Given the description of an element on the screen output the (x, y) to click on. 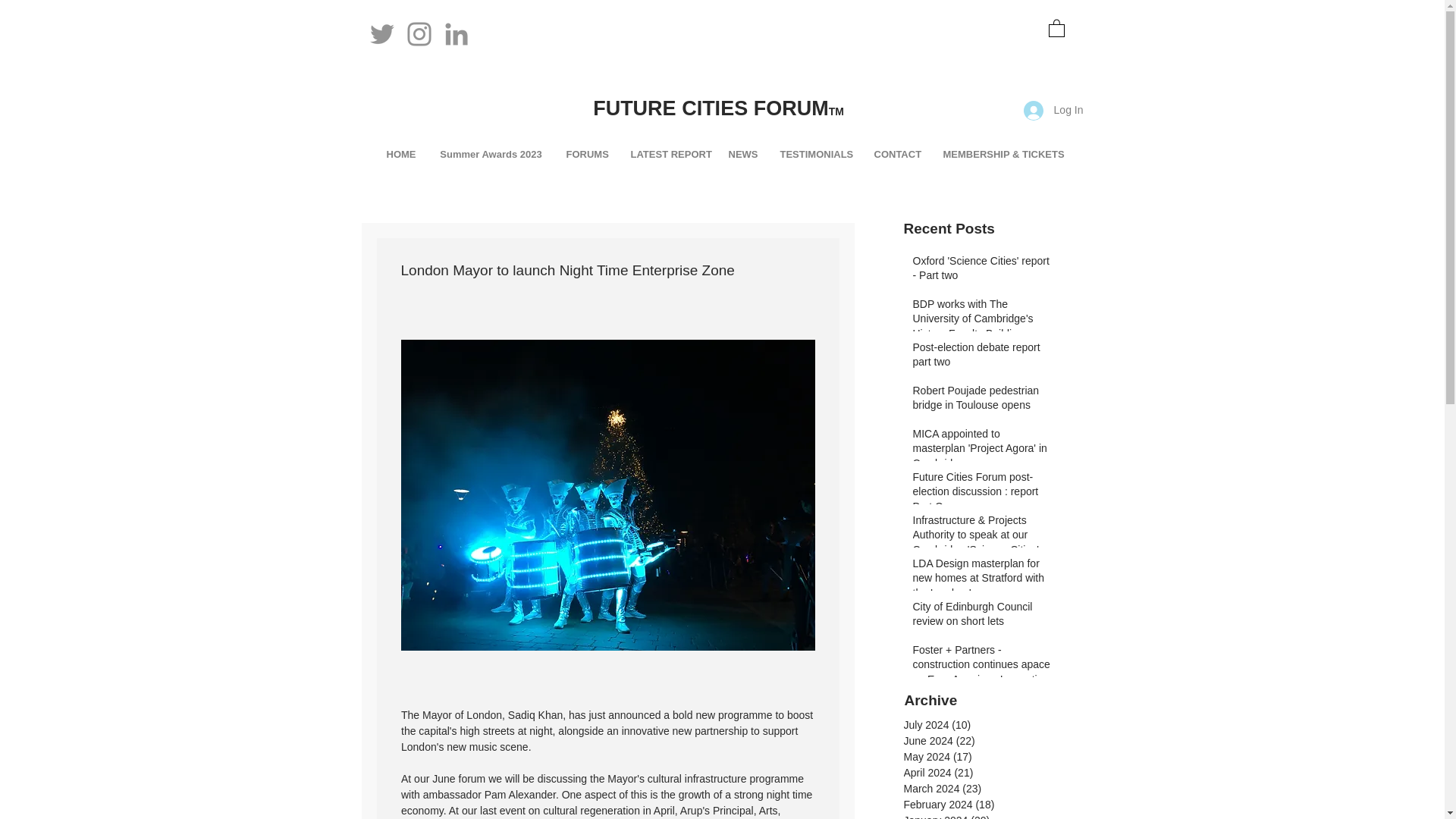
Twitter Tweet (389, 142)
Oxford 'Science Cities' report - Part two (981, 271)
MICA appointed to masterplan 'Project Agora' in Cambridge (981, 451)
Summer Awards 2023 (491, 153)
City of Edinburgh Council review on short lets (981, 617)
Post-election debate report part two (981, 357)
TESTIMONIALS (815, 153)
FORUMS (587, 153)
HOME (400, 153)
NEWS (742, 153)
Robert Poujade pedestrian bridge in Toulouse opens (981, 401)
LATEST REPORT (667, 153)
CONTACT (897, 153)
